Given the description of an element on the screen output the (x, y) to click on. 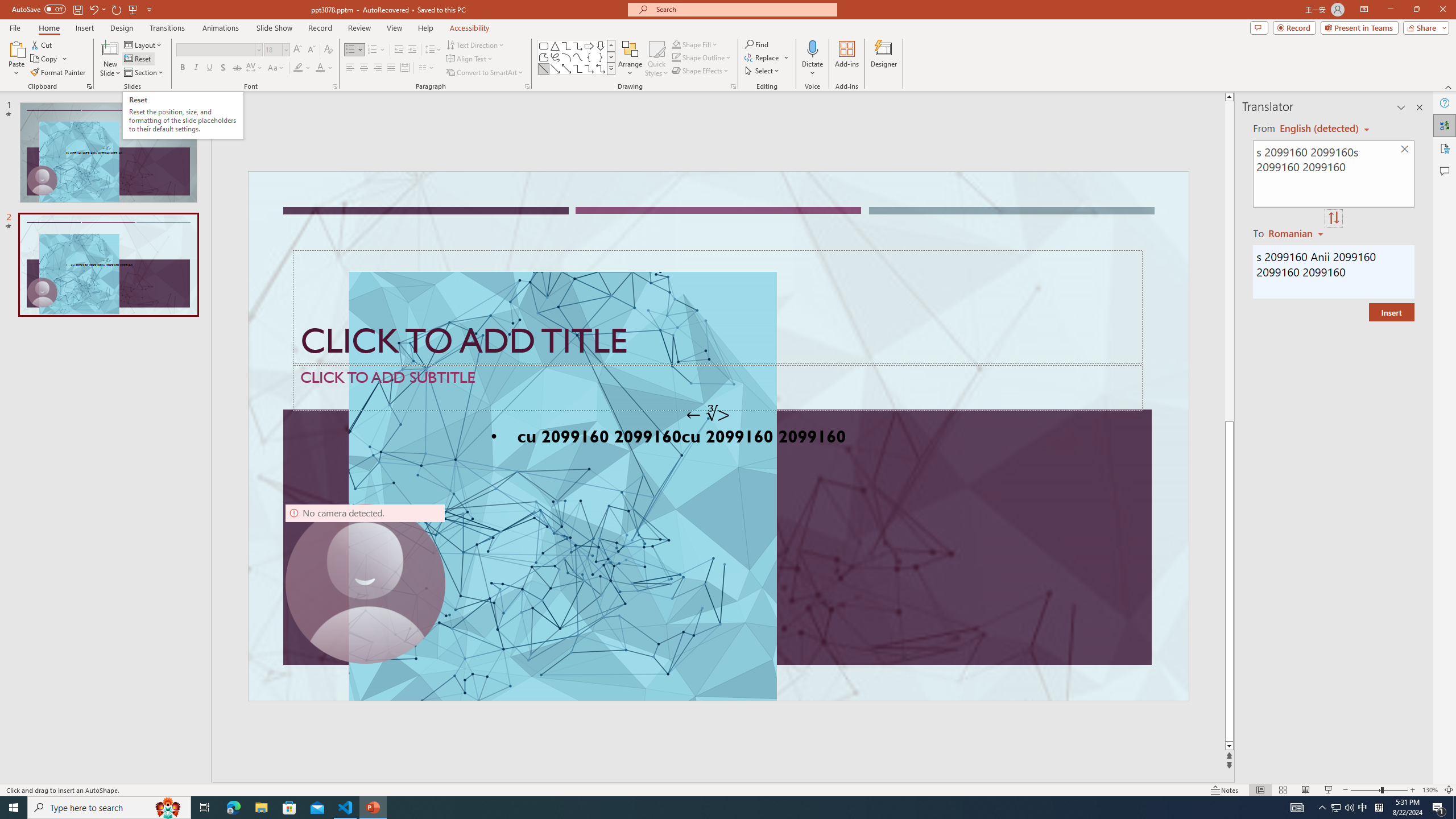
Bullets (349, 49)
Decrease Indent (398, 49)
Distributed (404, 67)
Zoom 130% (1430, 790)
Line Arrow: Double (566, 68)
Rectangle: Rounded Corners (543, 45)
TextBox 61 (716, 438)
Right Brace (600, 57)
Arc (566, 57)
Numbering (372, 49)
Open (285, 49)
Shape Fill Dark Green, Accent 2 (675, 44)
